Given the description of an element on the screen output the (x, y) to click on. 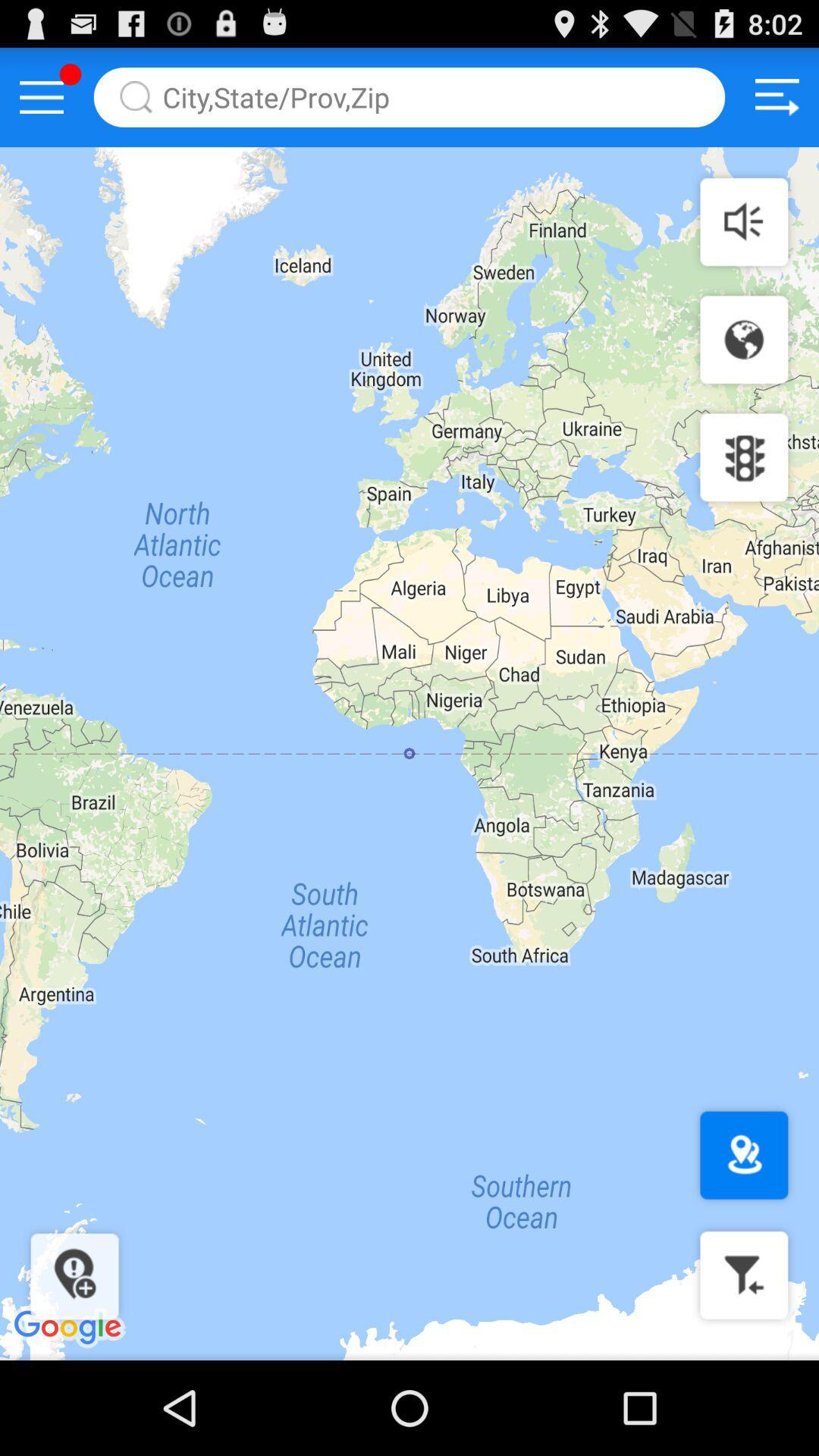
change map view (744, 339)
